Given the description of an element on the screen output the (x, y) to click on. 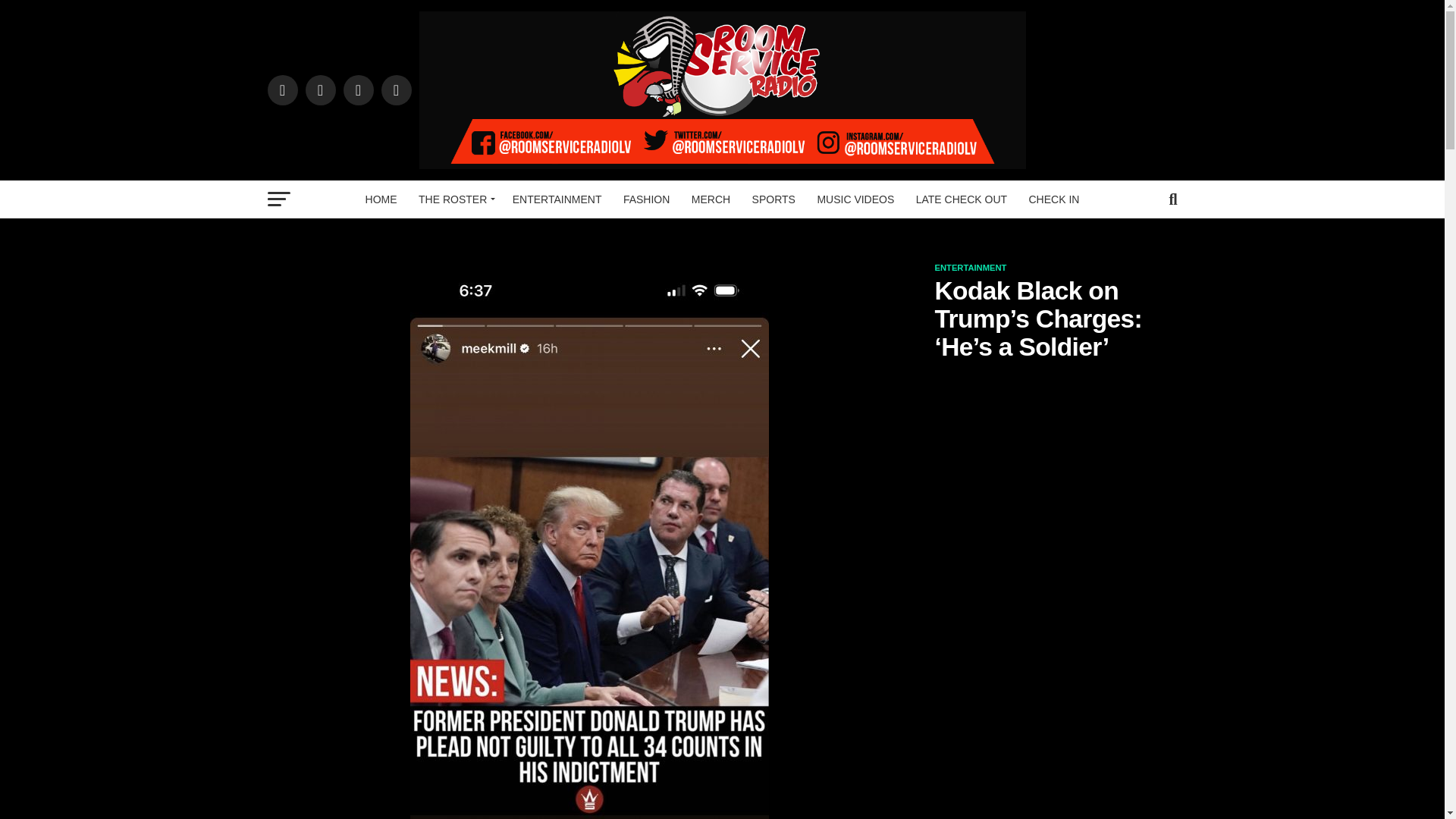
ENTERTAINMENT (557, 199)
THE ROSTER (454, 199)
HOME (381, 199)
